Given the description of an element on the screen output the (x, y) to click on. 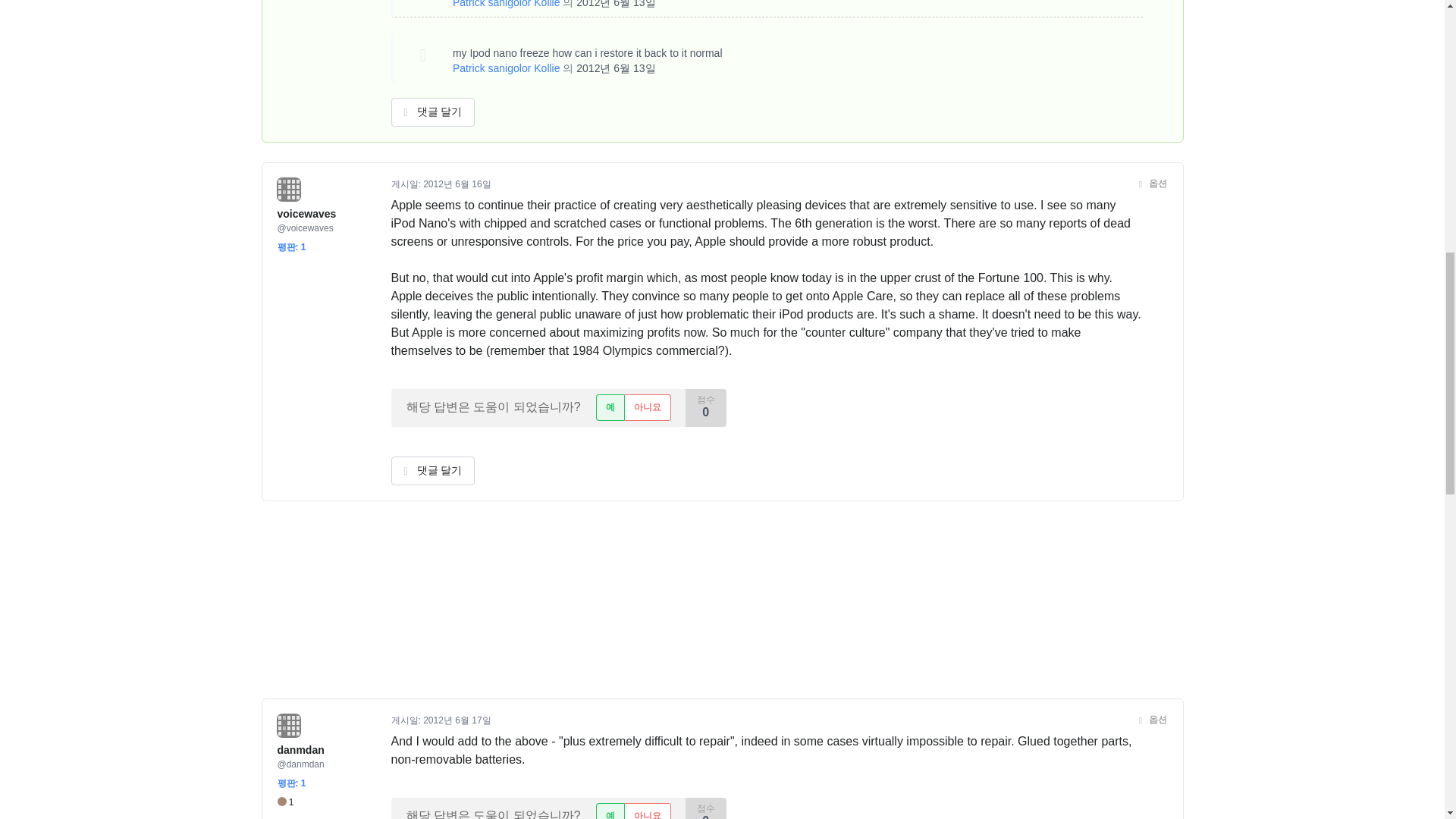
Wed, 13 Jun 2012 07:32:39 -0700 (615, 68)
Sat, 16 Jun 2012 12:06:13 -0700 (456, 184)
Wed, 13 Jun 2012 07:29:40 -0700 (615, 4)
Sun, 17 Jun 2012 00:52:00 -0700 (456, 719)
